Given the description of an element on the screen output the (x, y) to click on. 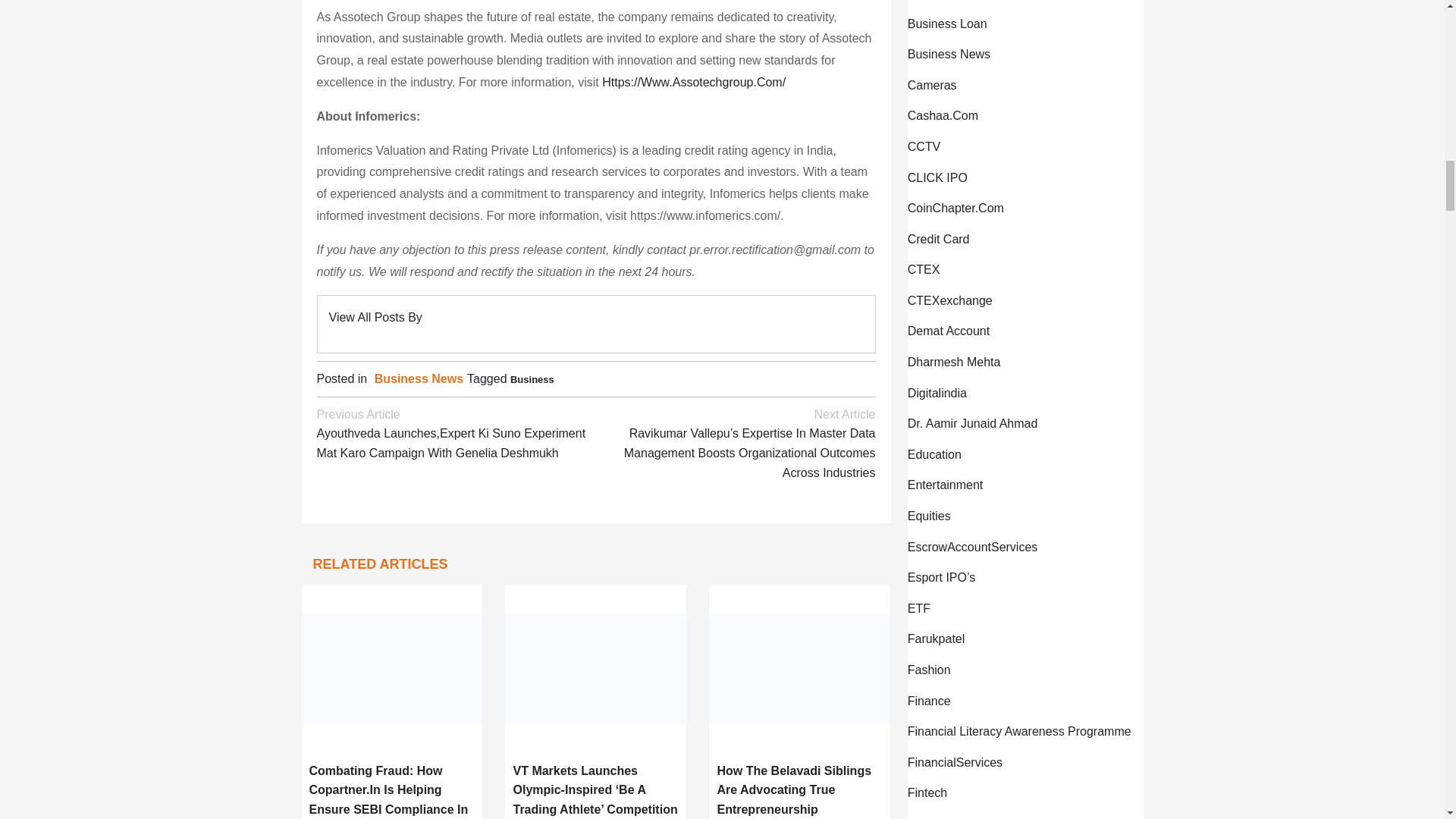
Business (532, 378)
Business News (418, 378)
View All Posts By (375, 317)
